Given the description of an element on the screen output the (x, y) to click on. 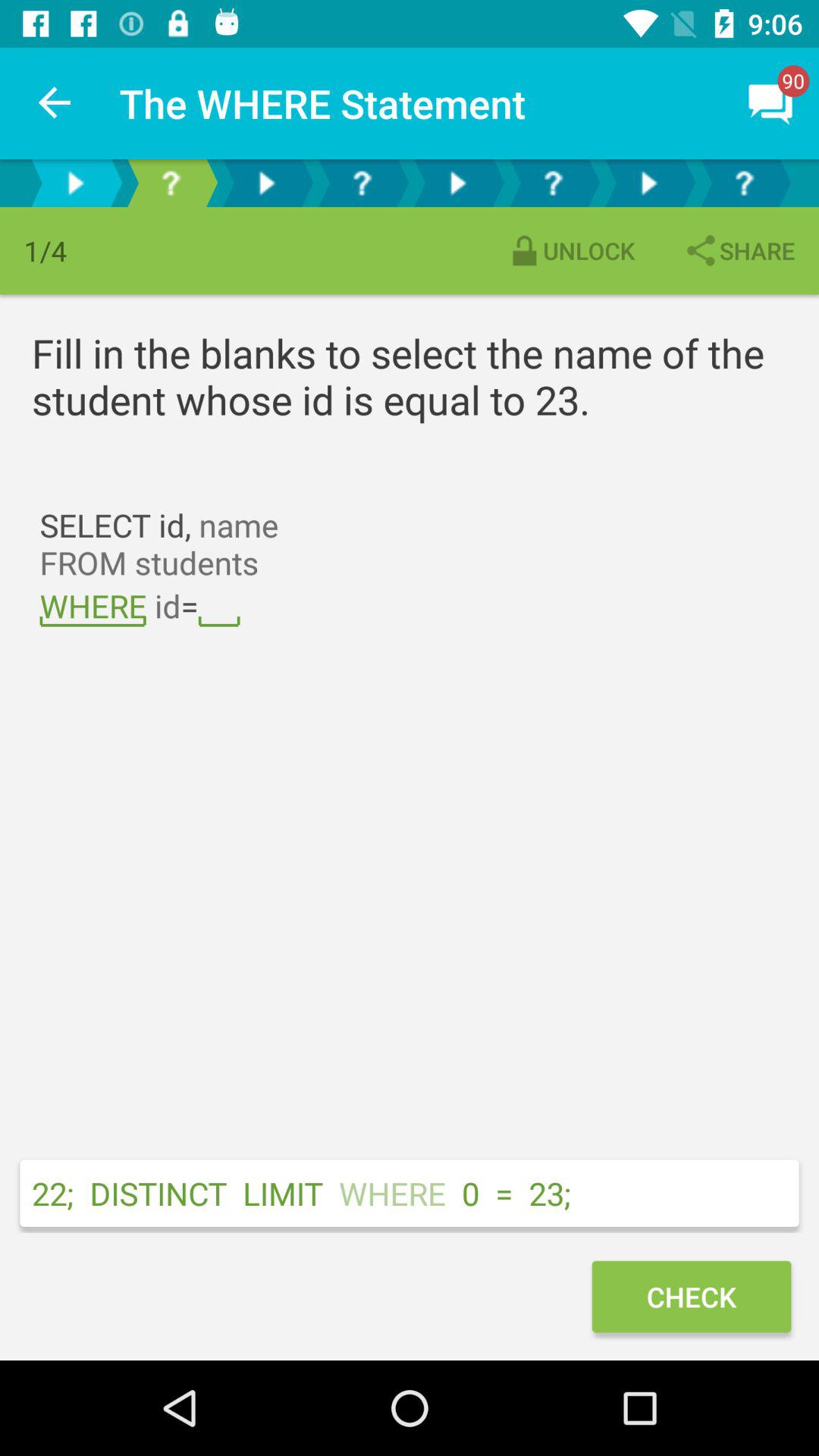
go forward (648, 183)
